Given the description of an element on the screen output the (x, y) to click on. 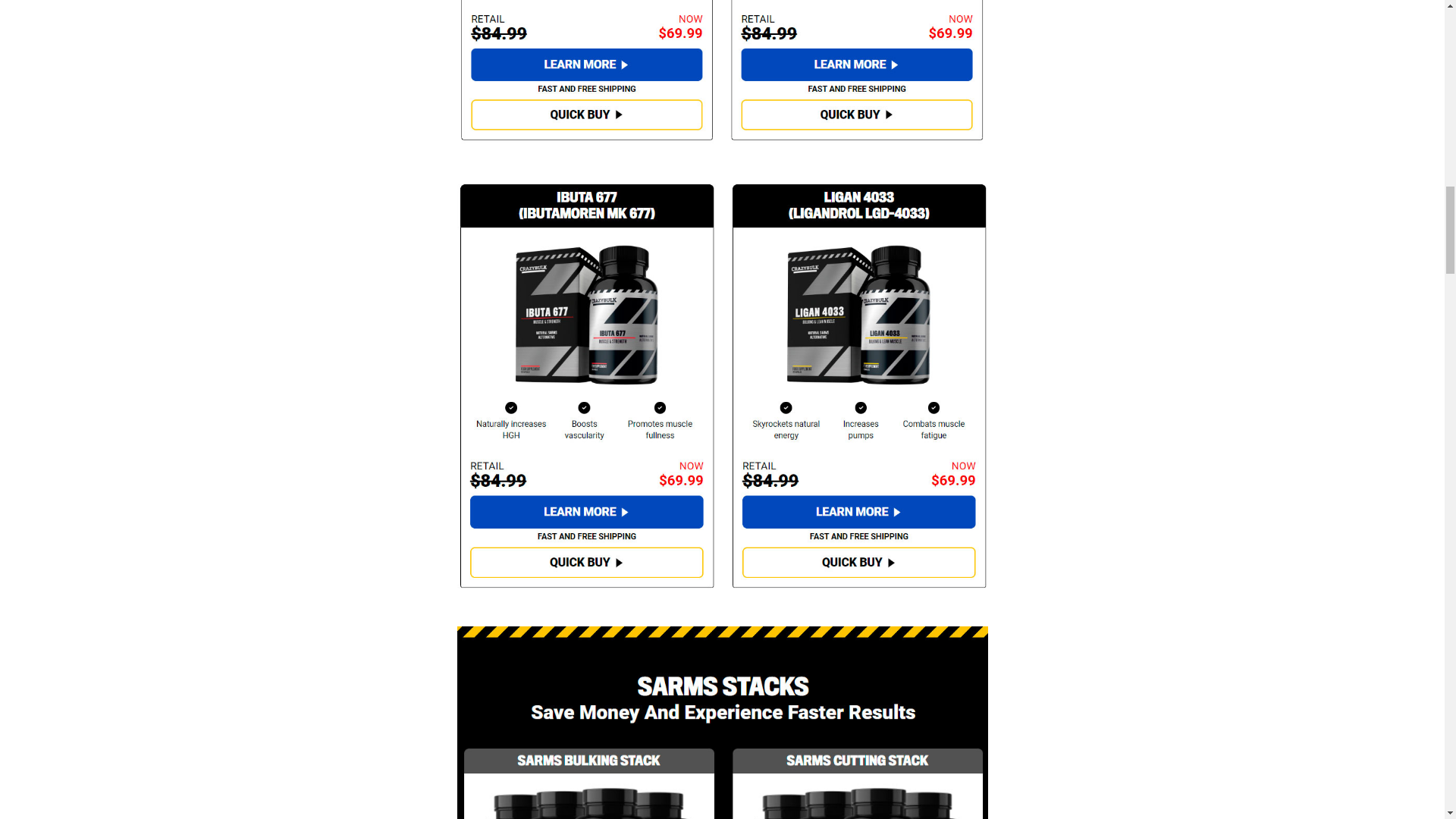
3rd party tested sarms uk (722, 722)
3rd party tested sarms uk (722, 72)
